Given the description of an element on the screen output the (x, y) to click on. 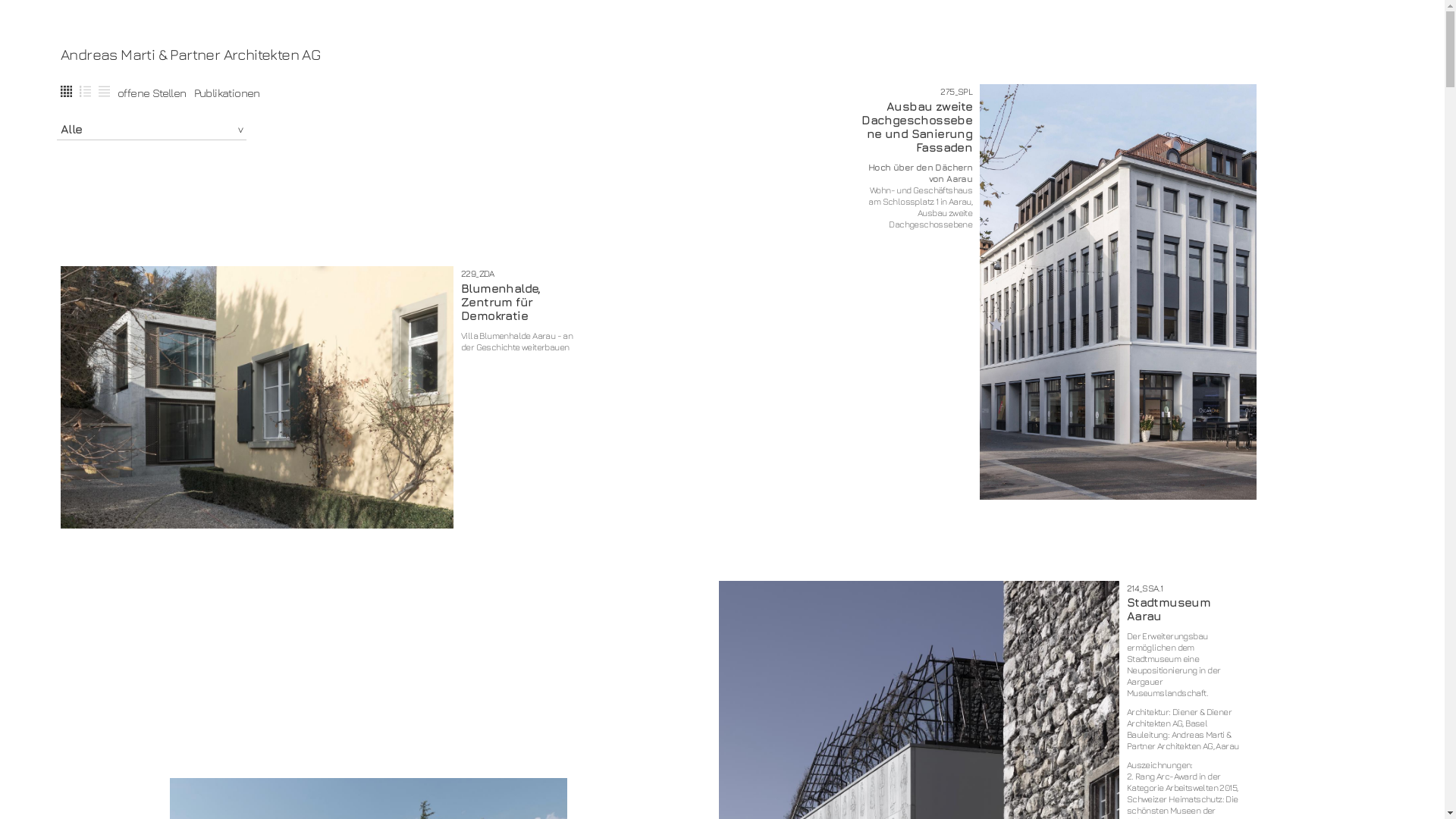
Andreas Marti & Partner Architekten AG Element type: text (714, 53)
offene Stellen Element type: text (151, 92)
Publikationen Element type: text (227, 92)
